Given the description of an element on the screen output the (x, y) to click on. 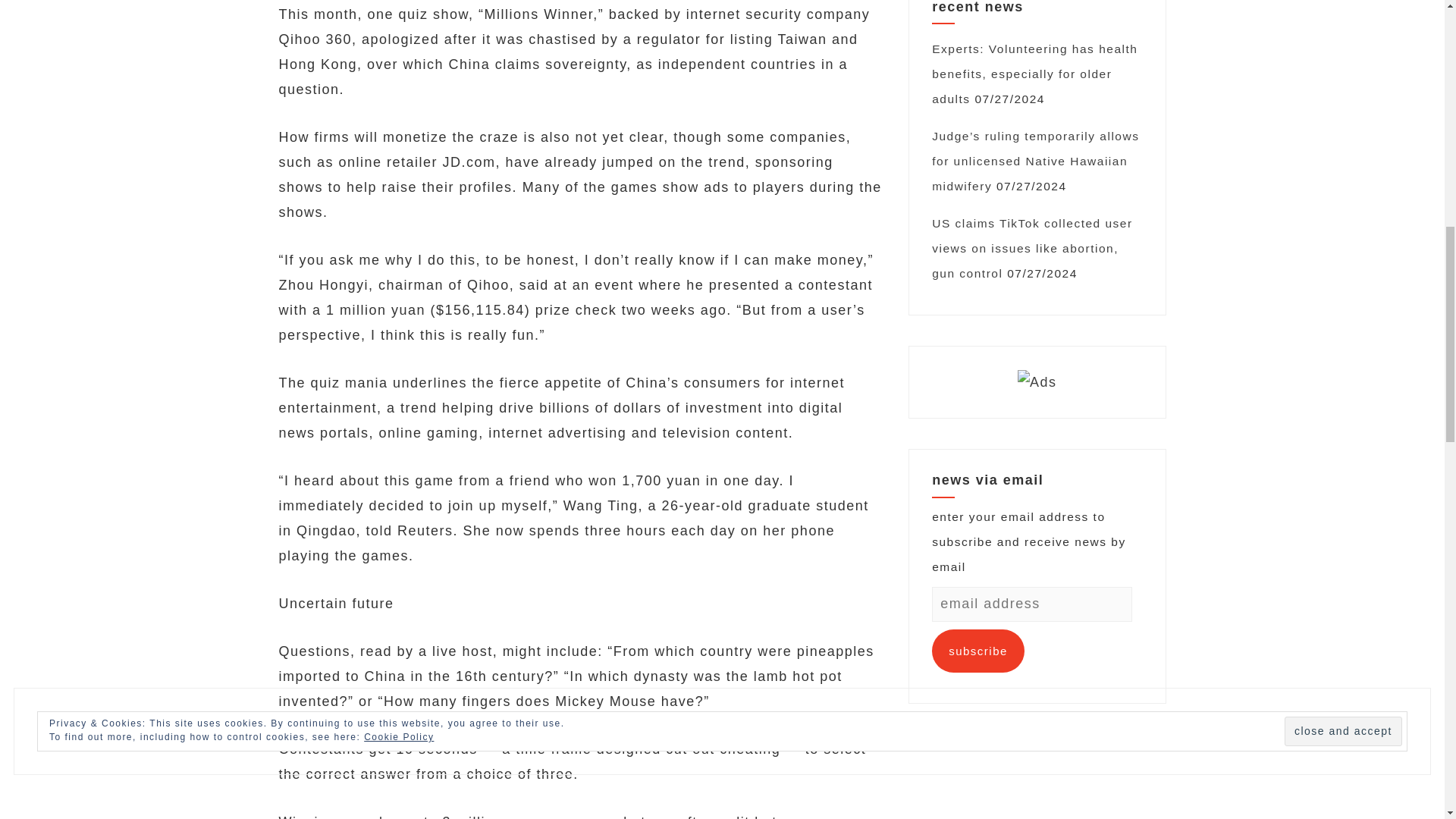
subscribe (978, 650)
